Given the description of an element on the screen output the (x, y) to click on. 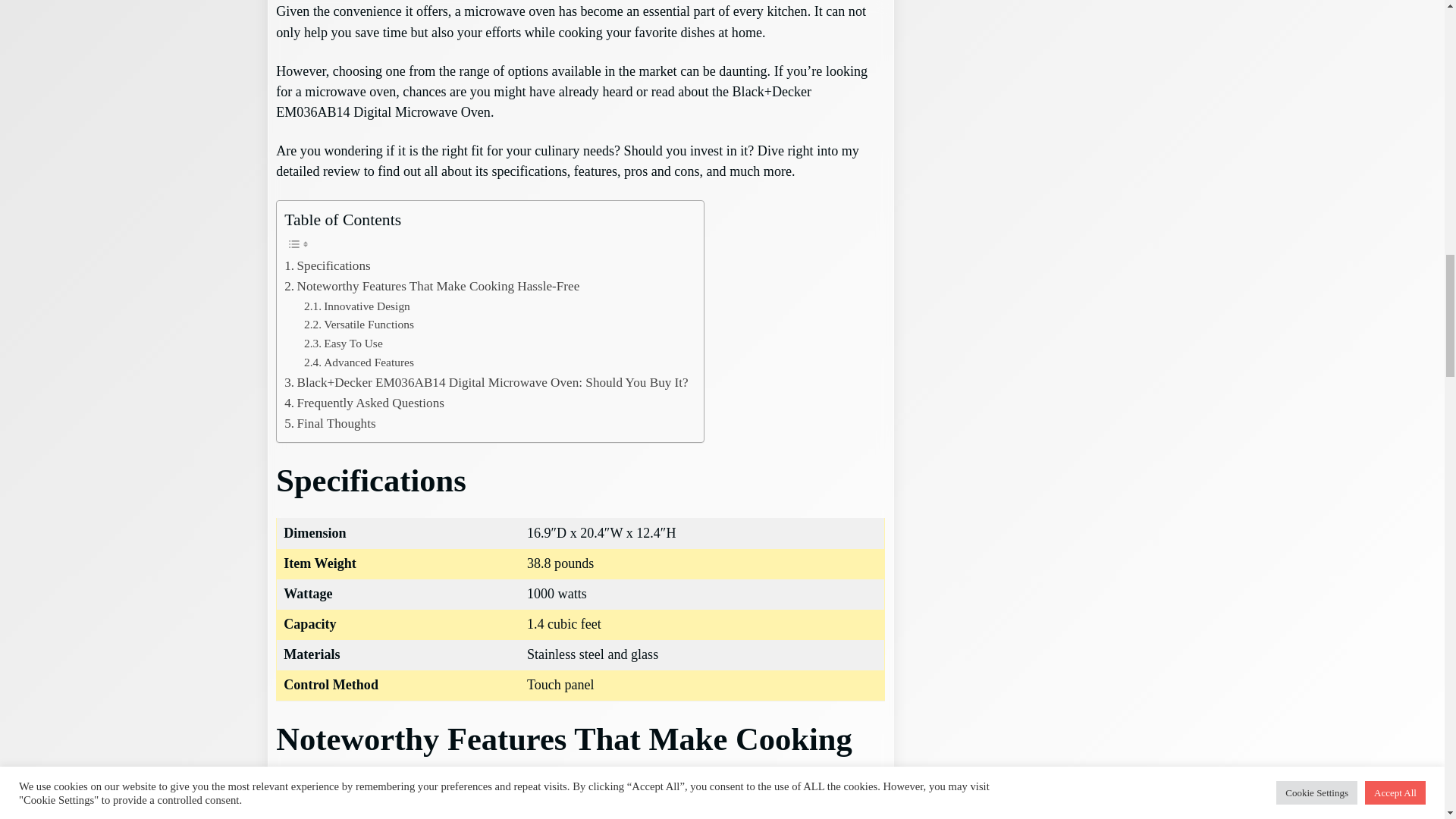
Noteworthy Features That Make Cooking Hassle-Free (431, 286)
Final Thoughts  (330, 423)
Frequently Asked Questions  (364, 403)
Specifications (327, 265)
Advanced Features  (360, 362)
Innovative Design  (358, 306)
Easy To Use (343, 343)
Specifications (327, 265)
